Given the description of an element on the screen output the (x, y) to click on. 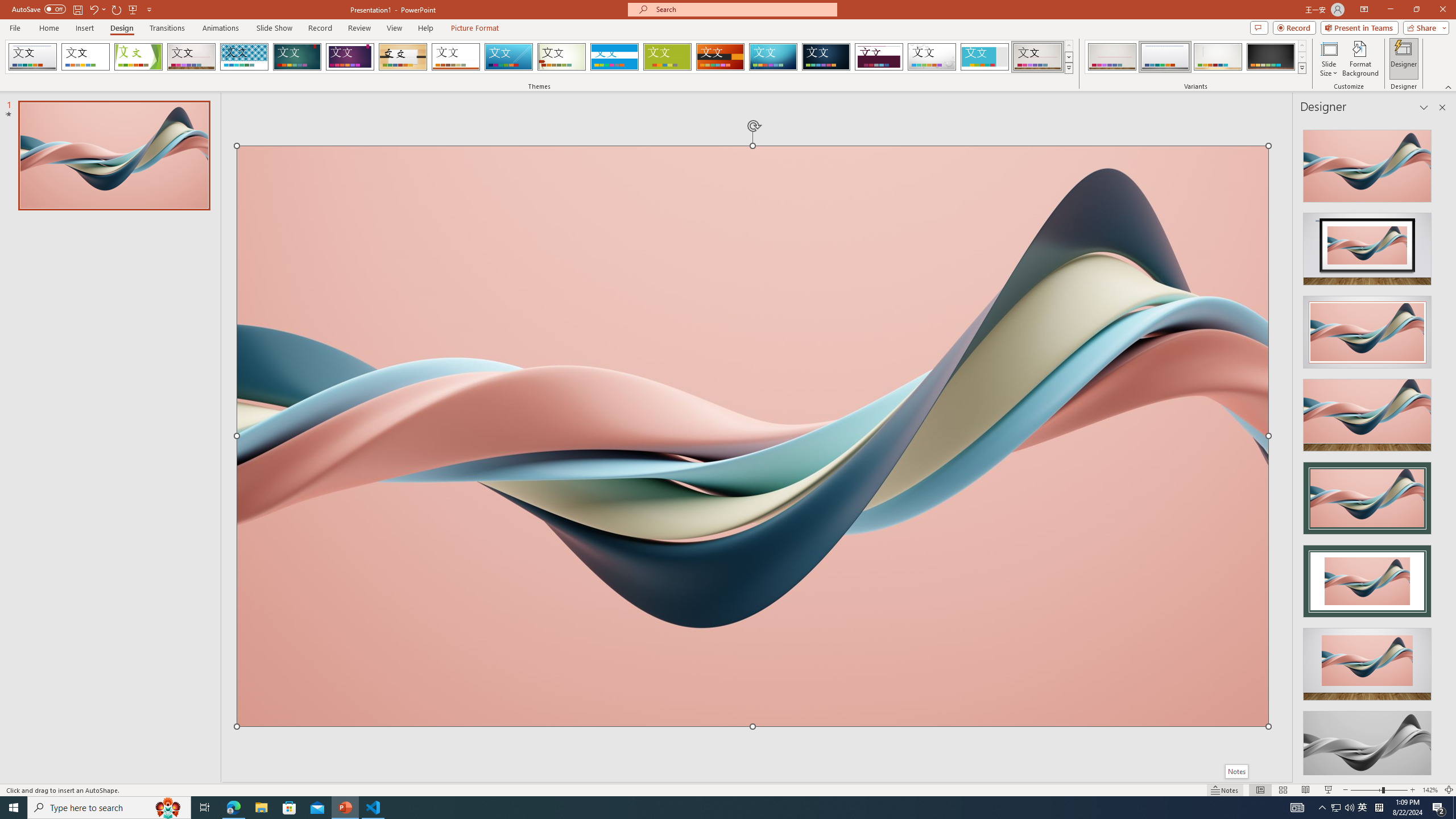
Zoom 142% (1430, 790)
Wavy 3D art (752, 435)
Gallery Variant 3 (1217, 56)
Facet (138, 56)
